Given the description of an element on the screen output the (x, y) to click on. 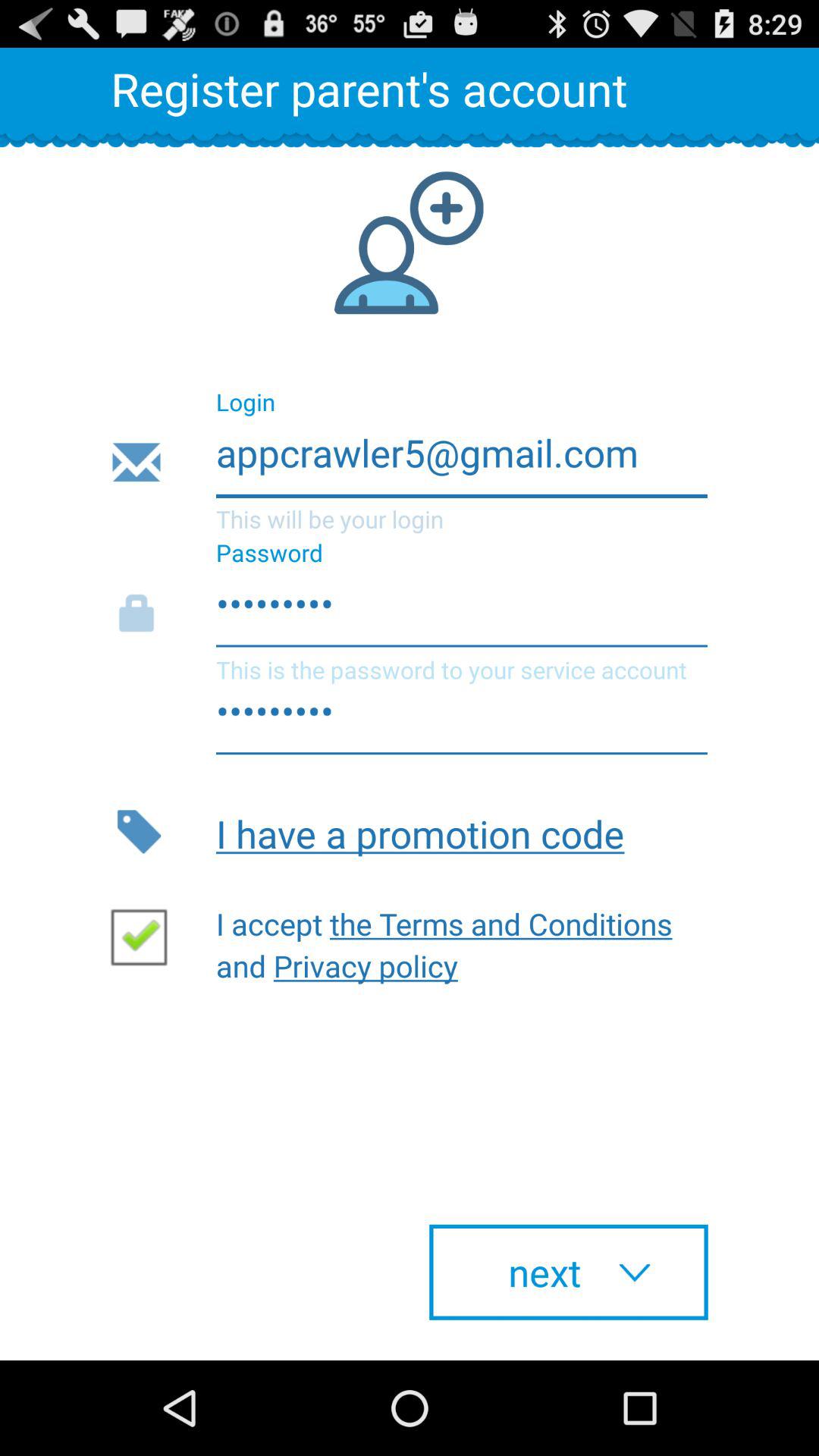
launch icon below the i accept the (568, 1272)
